Given the description of an element on the screen output the (x, y) to click on. 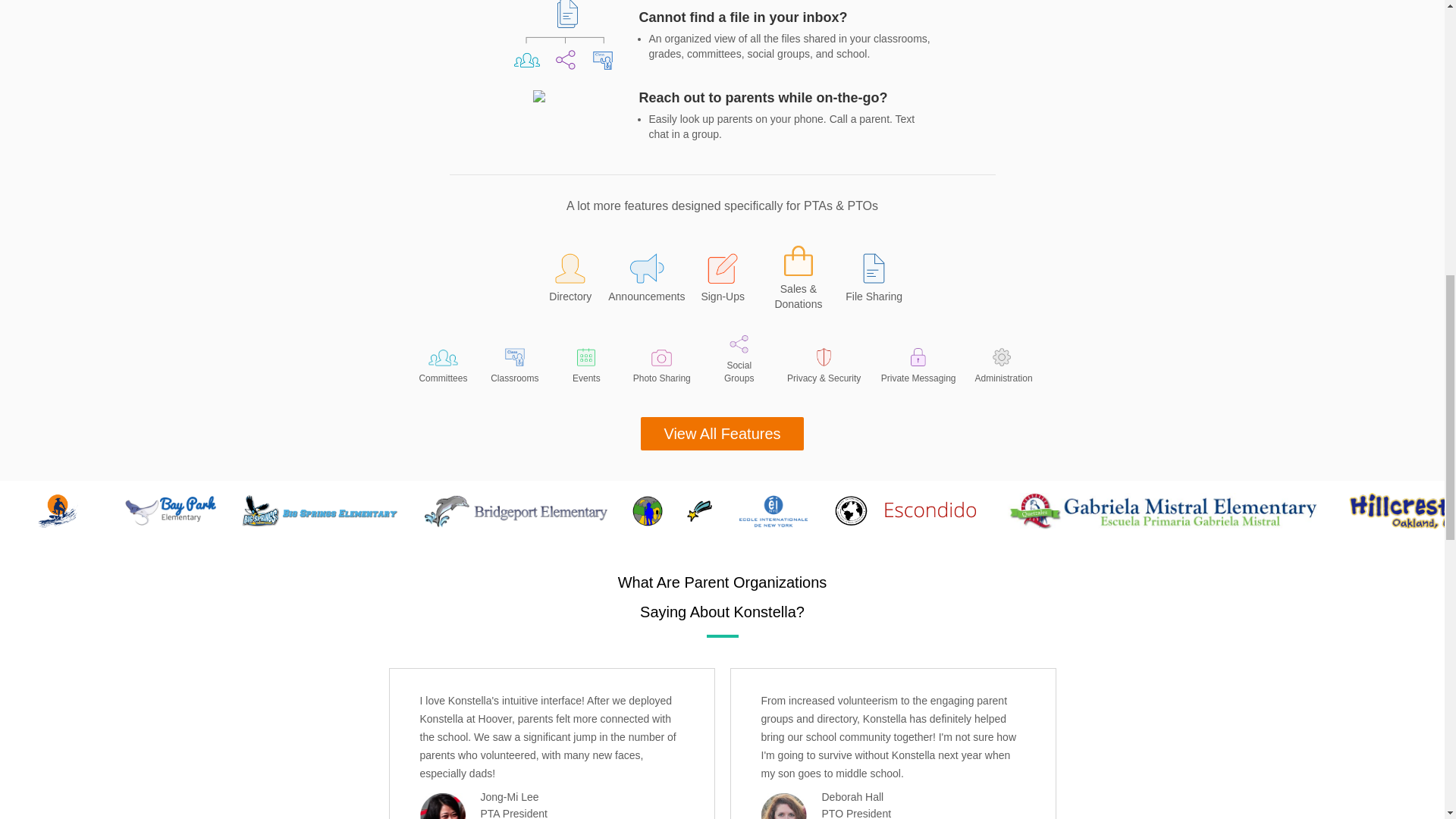
Private Messaging (918, 366)
Photo Sharing (662, 366)
Sign-Ups (722, 283)
Directory (570, 283)
Announcements (646, 283)
Administration (1001, 366)
Events (585, 366)
File Sharing (873, 283)
View All Features (721, 433)
Social Groups (738, 359)
